Given the description of an element on the screen output the (x, y) to click on. 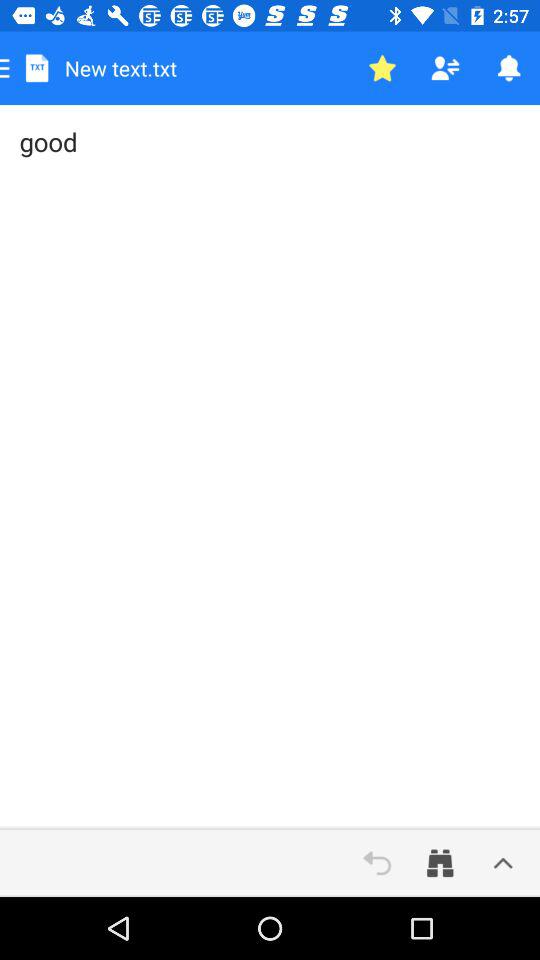
go to find (440, 863)
